Given the description of an element on the screen output the (x, y) to click on. 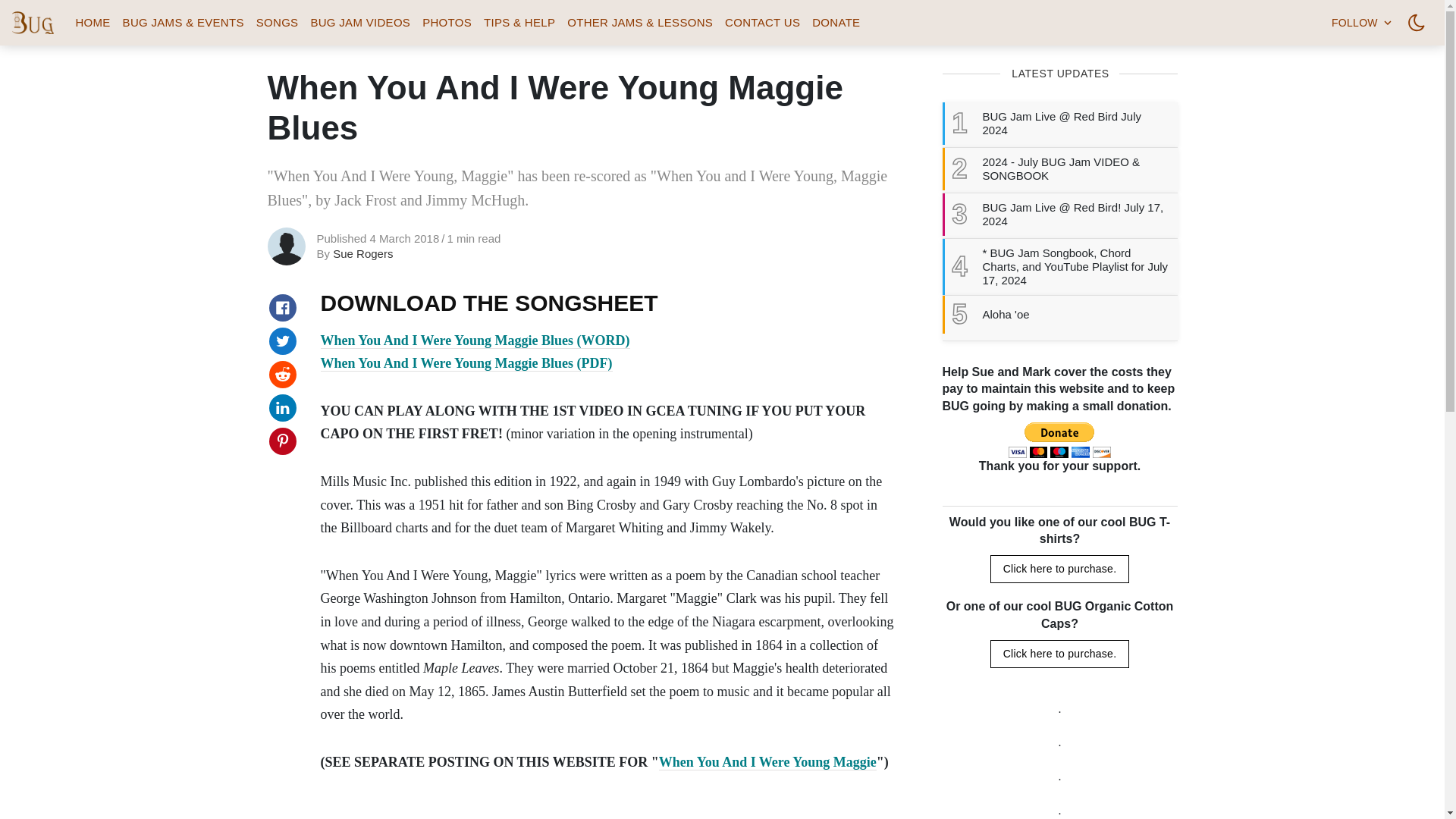
PHOTOS (446, 22)
CONTACT US (762, 22)
BUG JAM VIDEOS (360, 22)
SONGS (277, 22)
When You And I Were Young Maggie (767, 762)
HOME (92, 22)
Posts by Sue Rogers (363, 253)
Sue Rogers (363, 253)
DONATE (836, 22)
